Given the description of an element on the screen output the (x, y) to click on. 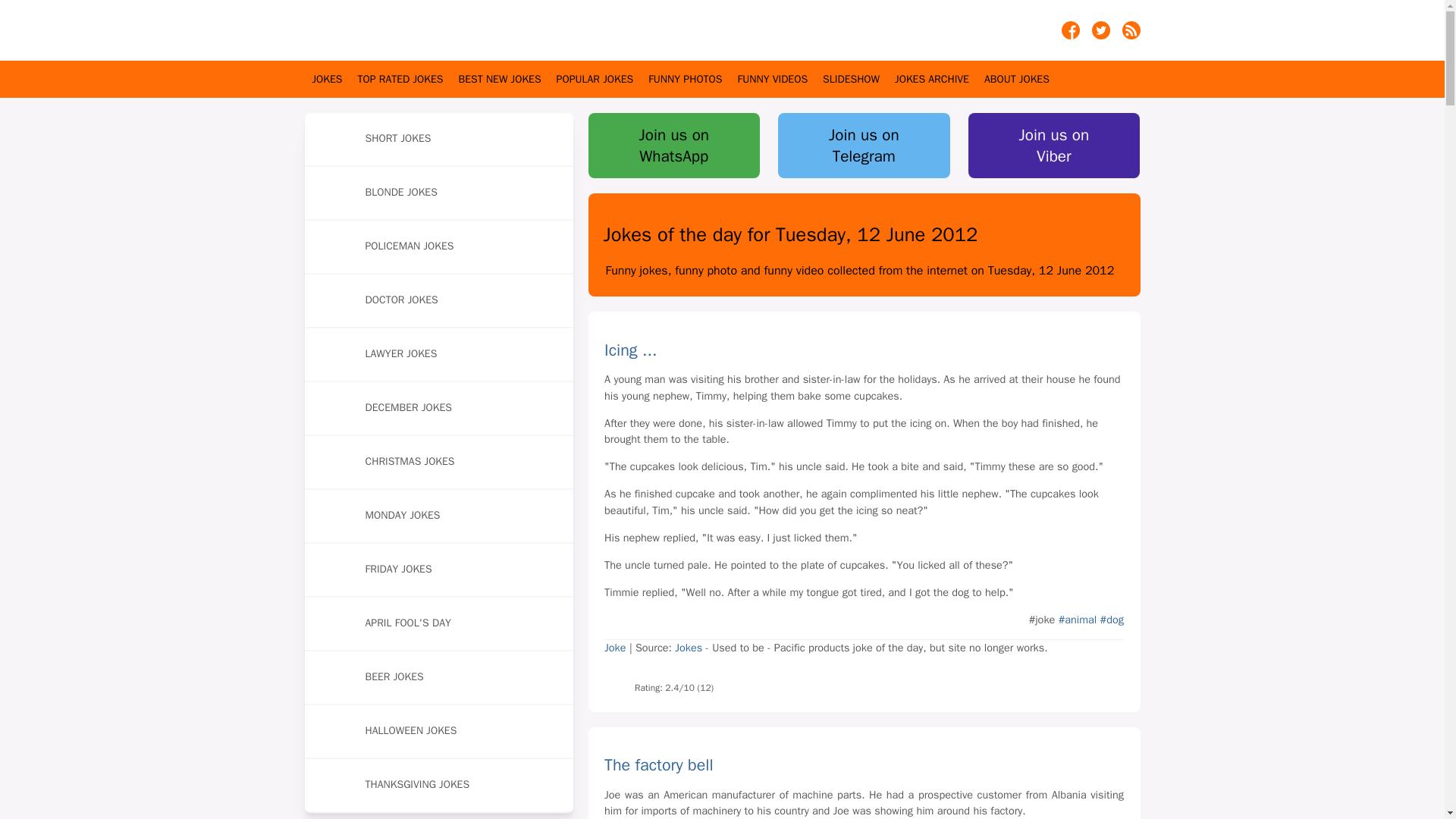
Icing ... (615, 647)
The best jokes in the last 4 weeks (499, 78)
Funny Videos (772, 78)
POPULAR JOKES (594, 78)
Jokes (689, 647)
TOP RATED JOKES (401, 78)
Jokes Of The Day (376, 29)
Slideshow (850, 78)
About Jokes (1016, 78)
Jokes Archive (932, 78)
Popular Jokes (594, 78)
SLIDESHOW (850, 78)
BEST NEW JOKES (499, 78)
JOKES ARCHIVE (932, 78)
Jokes of the day on RSS feed (1131, 35)
